Given the description of an element on the screen output the (x, y) to click on. 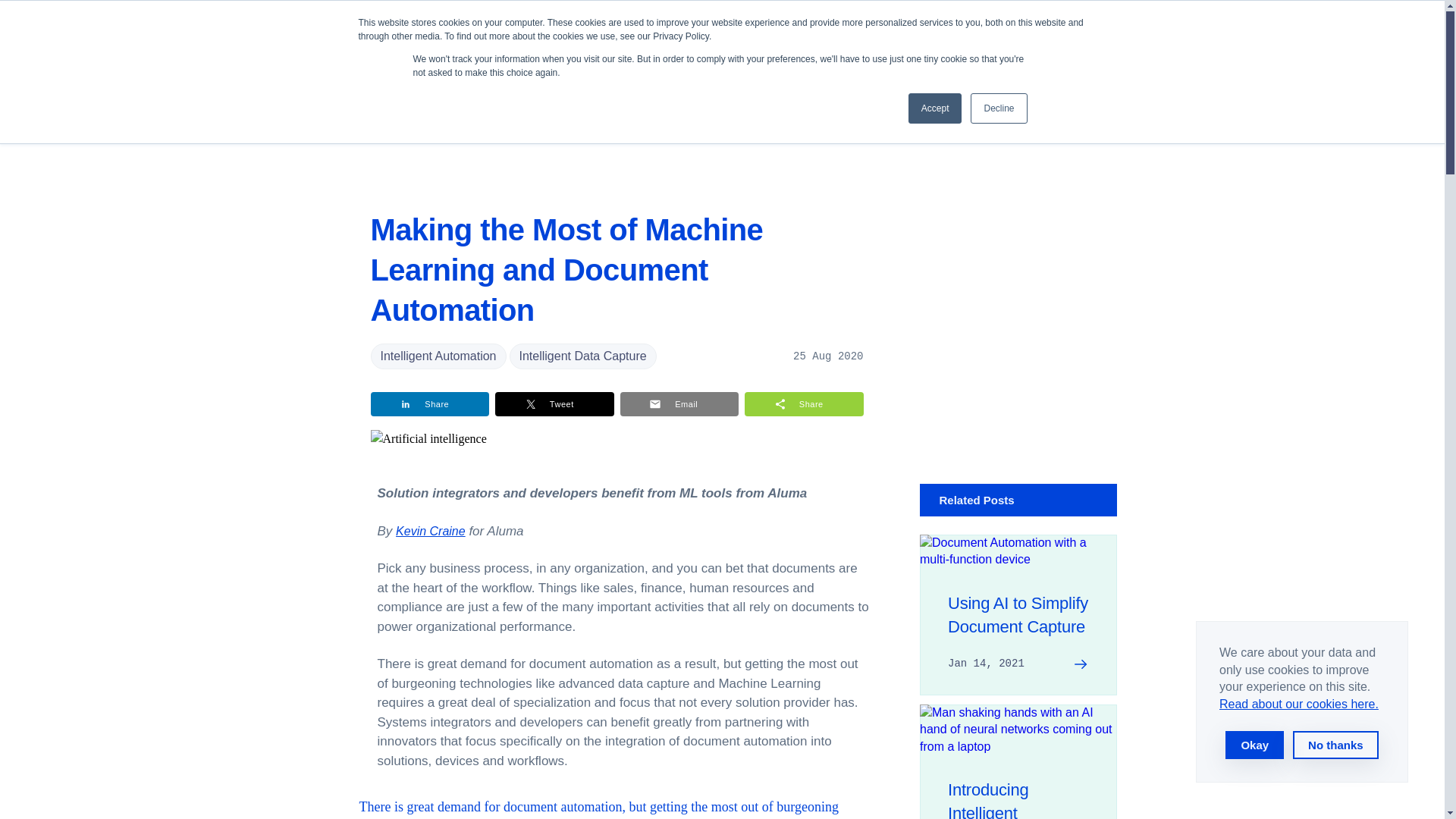
Partners (759, 30)
Developers (687, 30)
Features (614, 30)
Resources (828, 30)
Use cases (544, 30)
Legal documents (1299, 703)
Accept (935, 108)
Decline (998, 108)
